Given the description of an element on the screen output the (x, y) to click on. 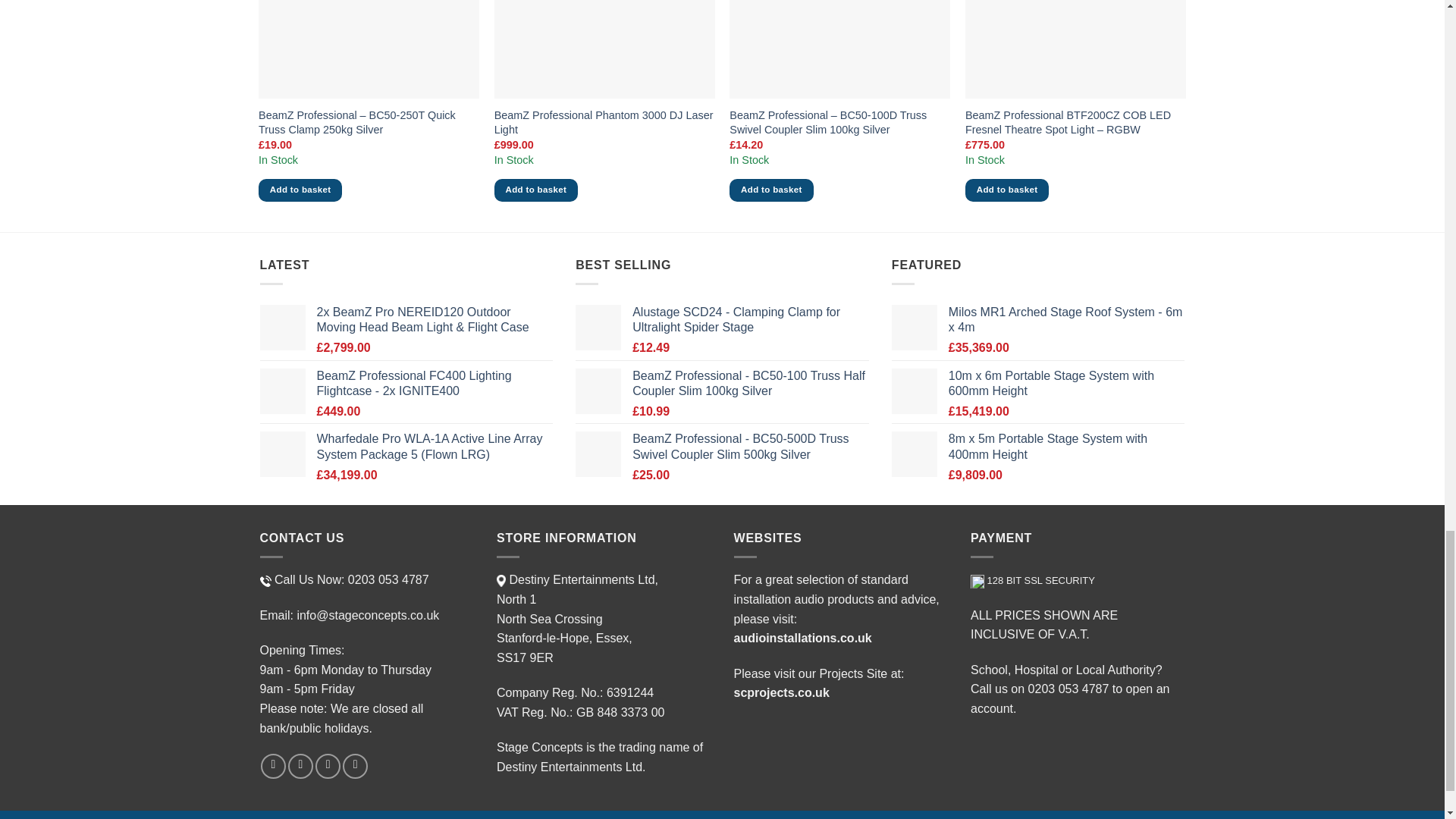
Send us an email (300, 765)
Follow on LinkedIn (355, 765)
Call us (327, 765)
Follow on Facebook (272, 765)
